Given the description of an element on the screen output the (x, y) to click on. 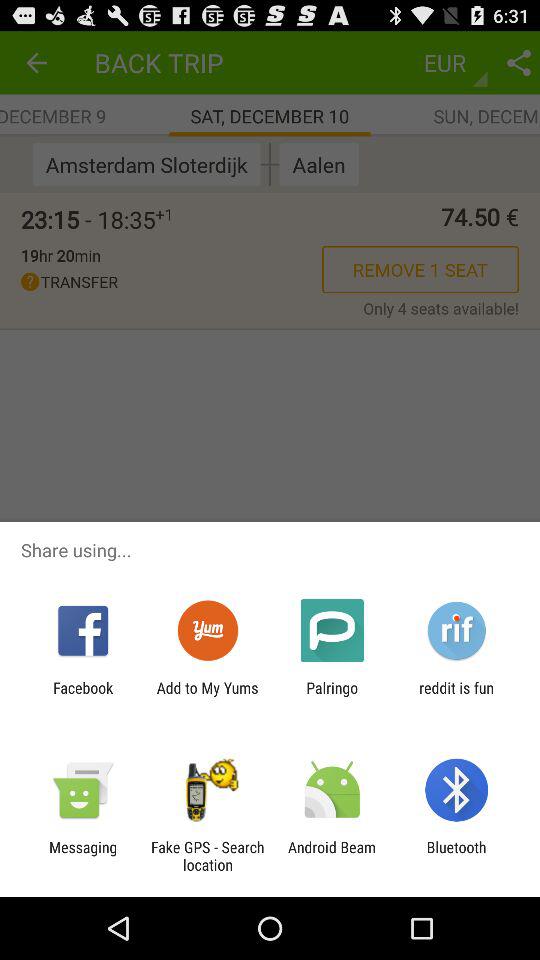
flip to facebook app (83, 696)
